Given the description of an element on the screen output the (x, y) to click on. 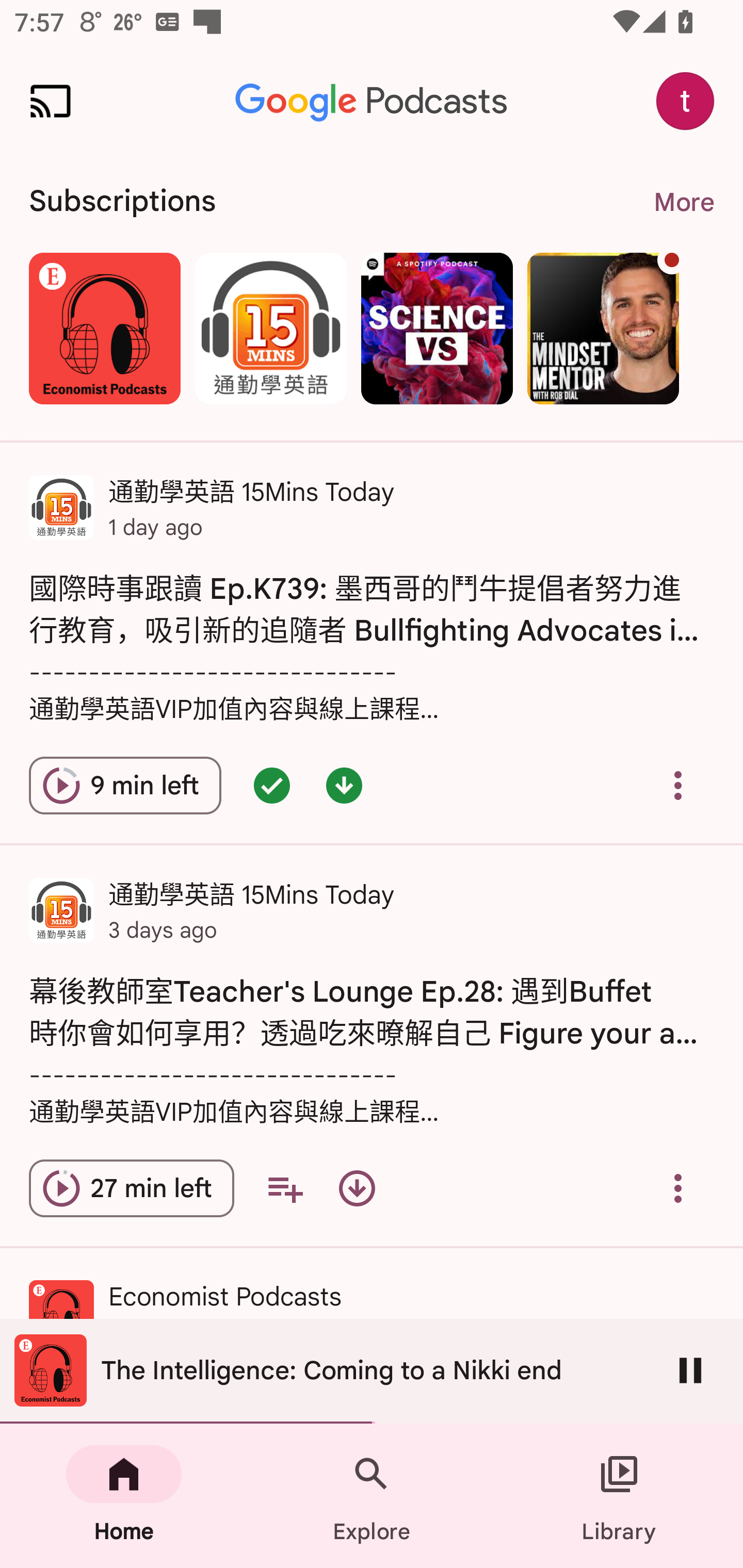
Cast. Disconnected (50, 101)
More More. Navigate to subscriptions page. (683, 202)
Economist Podcasts (104, 328)
通勤學英語 15Mins Today (270, 328)
Science Vs (436, 328)
The Mindset Mentor (603, 328)
Episode queued - double tap for options (271, 785)
Episode downloaded - double tap for options (344, 785)
Overflow menu (677, 785)
Add to your queue (284, 1188)
Download episode (356, 1188)
Overflow menu (677, 1188)
Pause (690, 1370)
Explore (371, 1495)
Library (619, 1495)
